Given the description of an element on the screen output the (x, y) to click on. 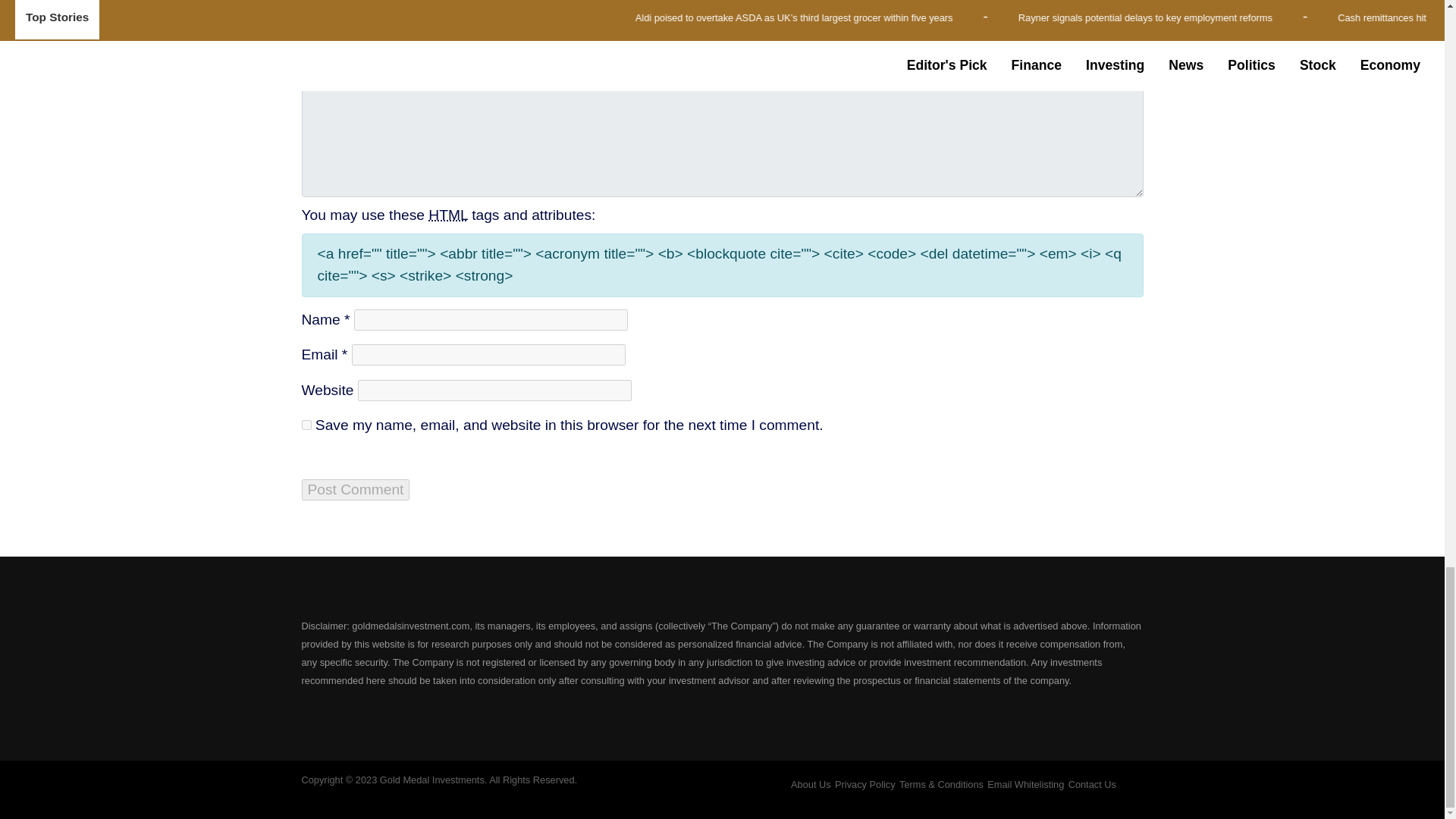
Post Comment (355, 489)
Contact Us (1092, 784)
Email Whitelisting (1025, 784)
Post Comment (355, 489)
About Us (810, 784)
yes (306, 424)
HyperText Markup Language (447, 214)
Privacy Policy (864, 784)
